Given the description of an element on the screen output the (x, y) to click on. 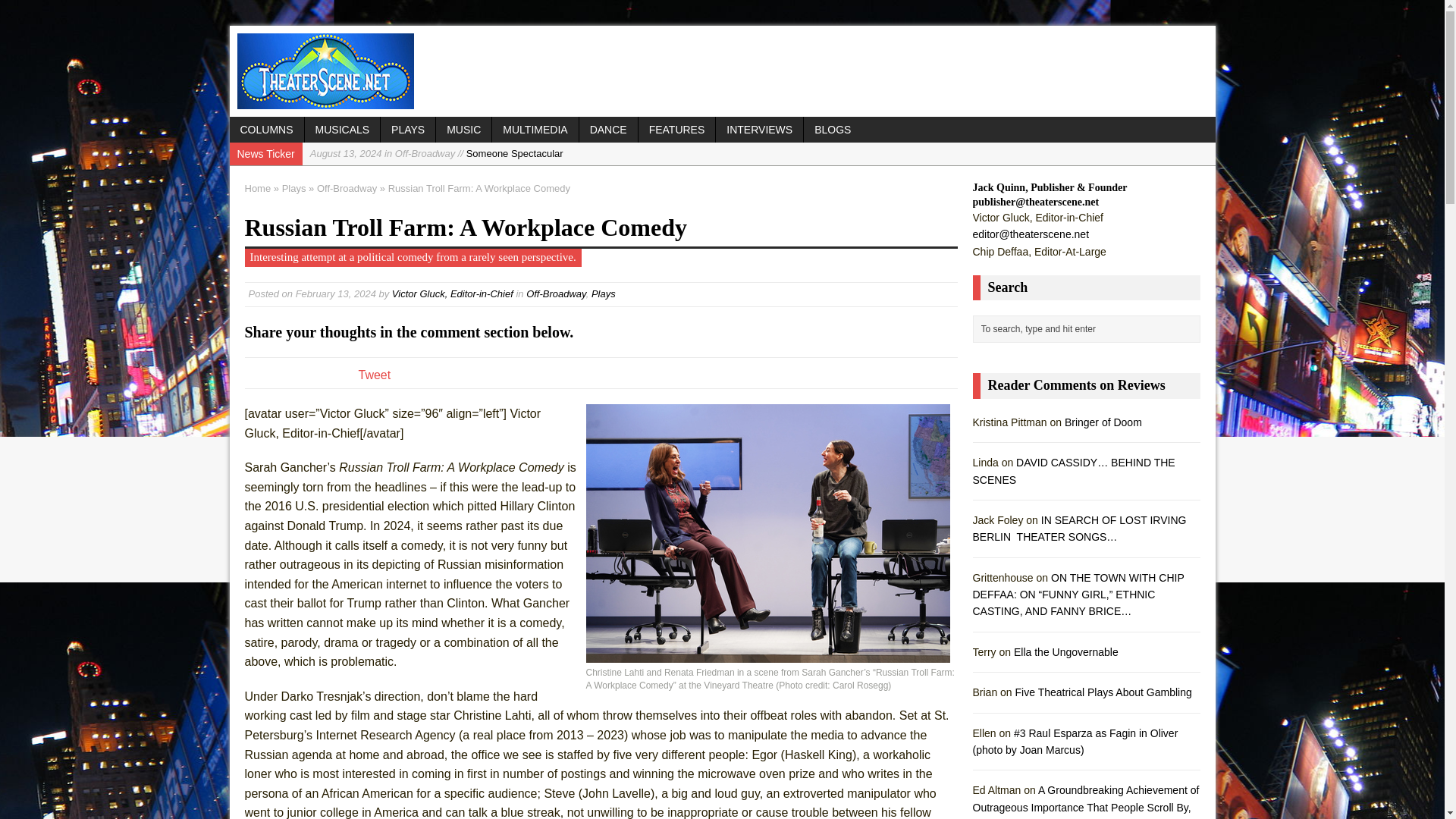
INTERVIEWS (759, 129)
PLAYS (407, 129)
To search, type and hit enter (1089, 329)
FEATURES (677, 129)
Posts by Victor Gluck, Editor-in-Chief (452, 293)
Off-Broadway (347, 188)
Plays (293, 188)
MUSIC (463, 129)
MUSICALS (342, 129)
COLUMNS (265, 129)
